Given the description of an element on the screen output the (x, y) to click on. 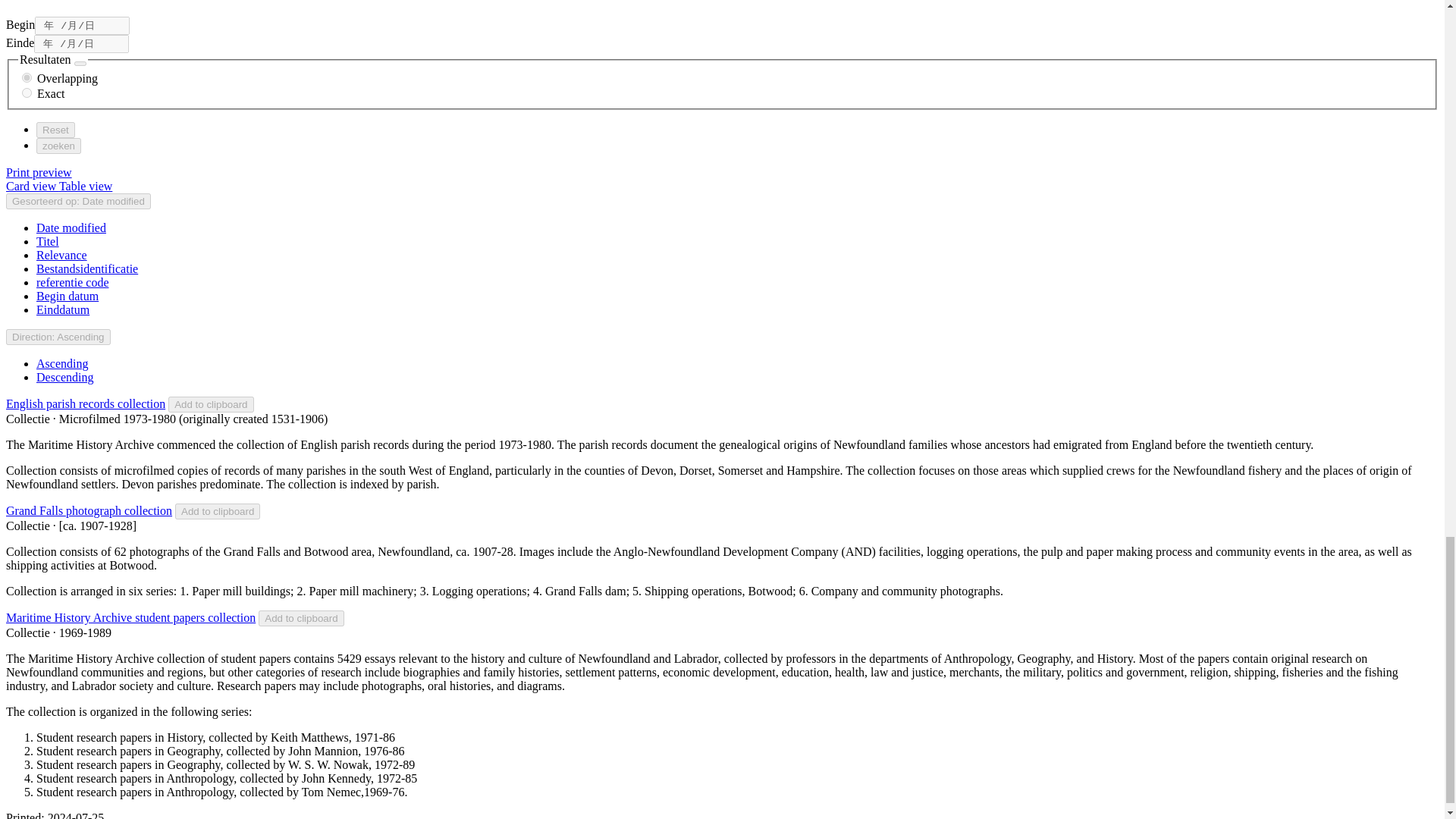
exact (26, 92)
zoeken (58, 145)
Reset (55, 130)
inclusive (26, 77)
